Given the description of an element on the screen output the (x, y) to click on. 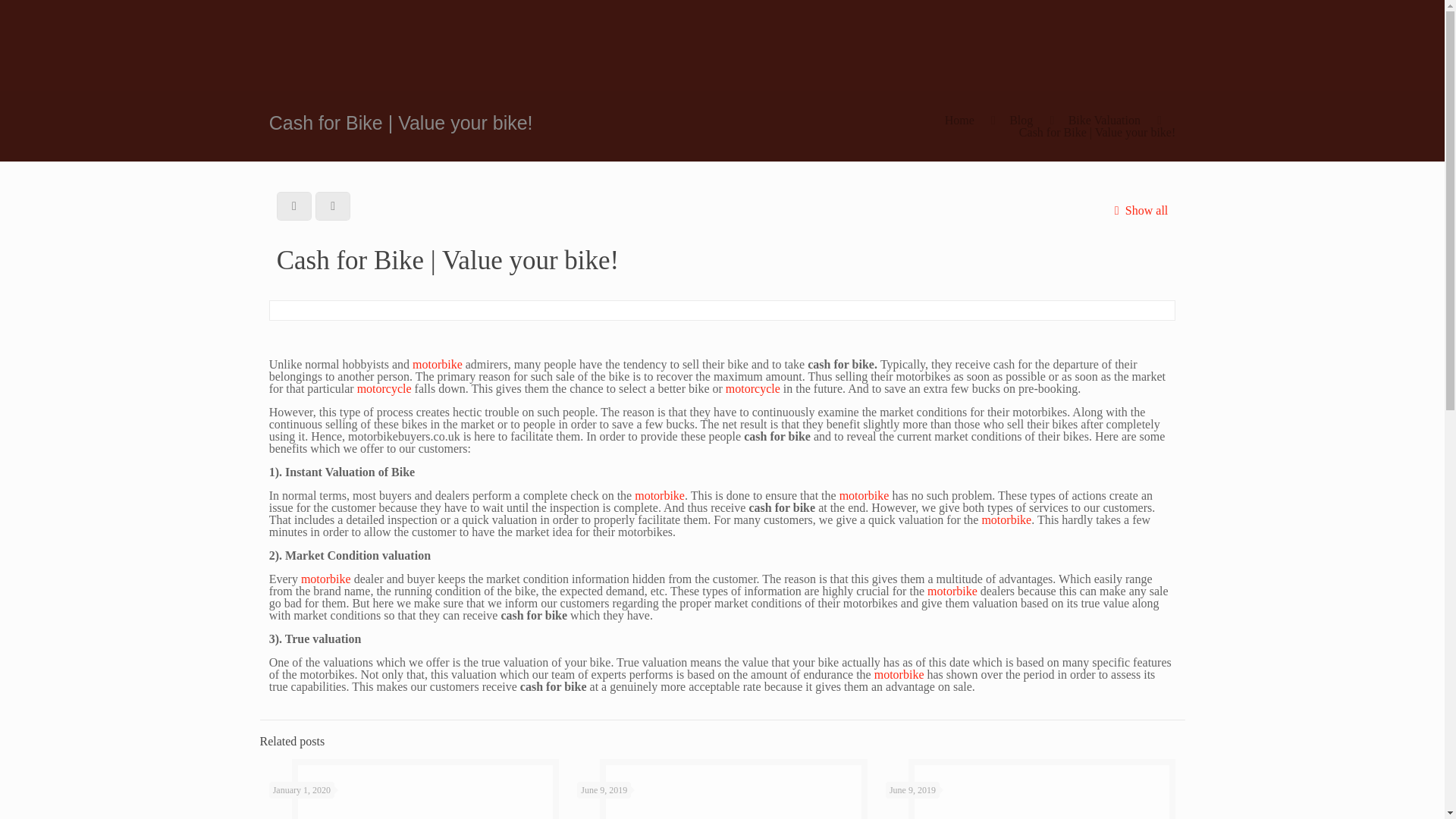
motorcycle (752, 388)
motorbike buyer (437, 364)
motorbike (1005, 519)
motorcycle (384, 388)
motorcycle (752, 388)
Home (959, 119)
motorbike (951, 590)
motorbike buyer (325, 578)
motorbike buyer (951, 590)
motorbike buyer (1005, 519)
